Given the description of an element on the screen output the (x, y) to click on. 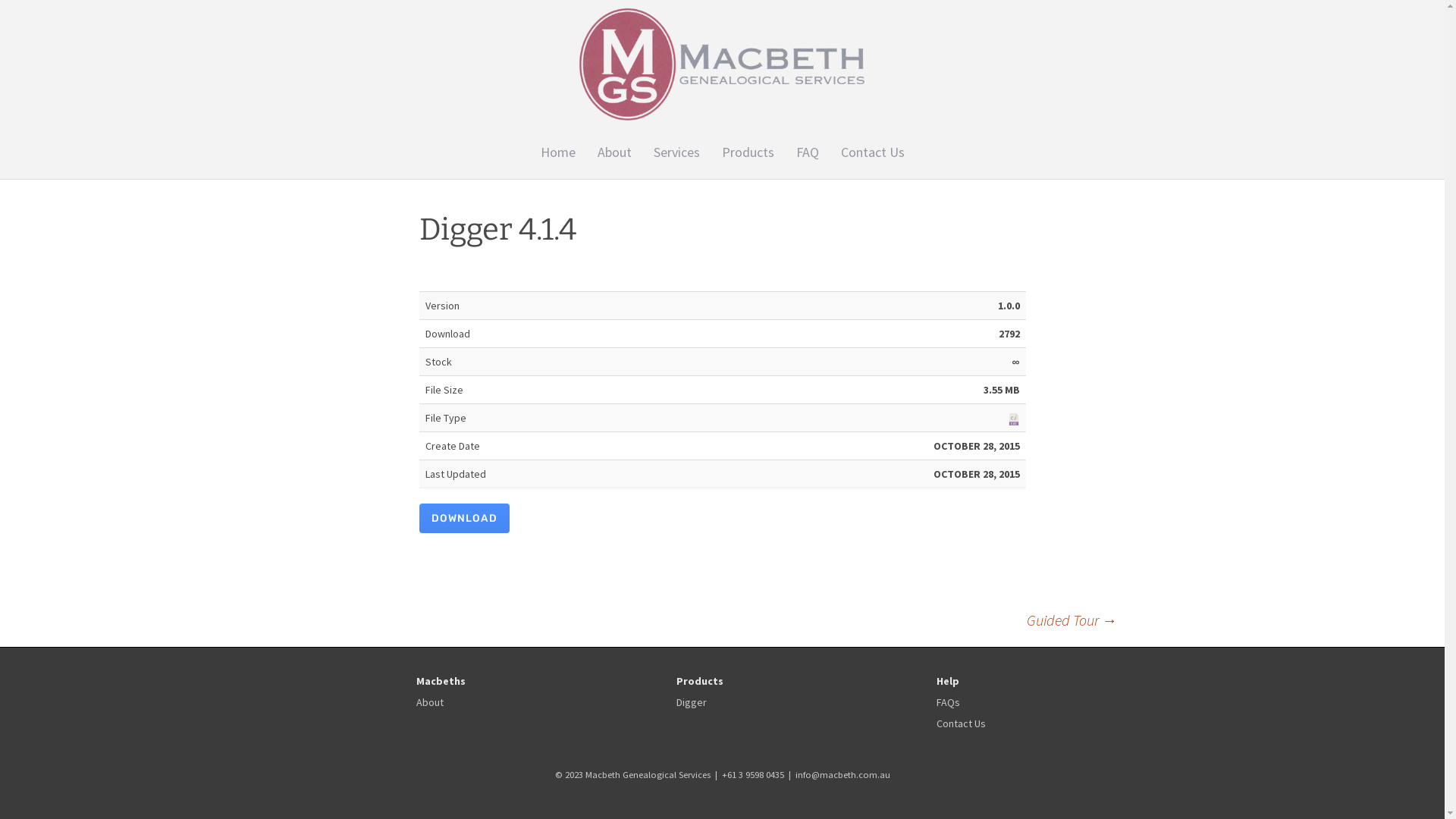
info@macbeth.com.au Element type: text (841, 774)
About Element type: text (613, 153)
DOWNLOAD Element type: text (463, 518)
Products Element type: text (747, 153)
FAQ Element type: text (806, 153)
Contact Us Element type: text (872, 153)
Digger Element type: text (785, 187)
Home Element type: text (557, 153)
Sue McBeth Element type: text (661, 187)
Services Element type: text (676, 153)
Digger Element type: text (691, 702)
About Element type: text (429, 702)
Contact Us Element type: text (960, 723)
Macbeth Genealogical Services Element type: hover (721, 64)
Skip to content Element type: text (721, 135)
exe Element type: hover (1013, 419)
FAQs Element type: text (948, 702)
